Given the description of an element on the screen output the (x, y) to click on. 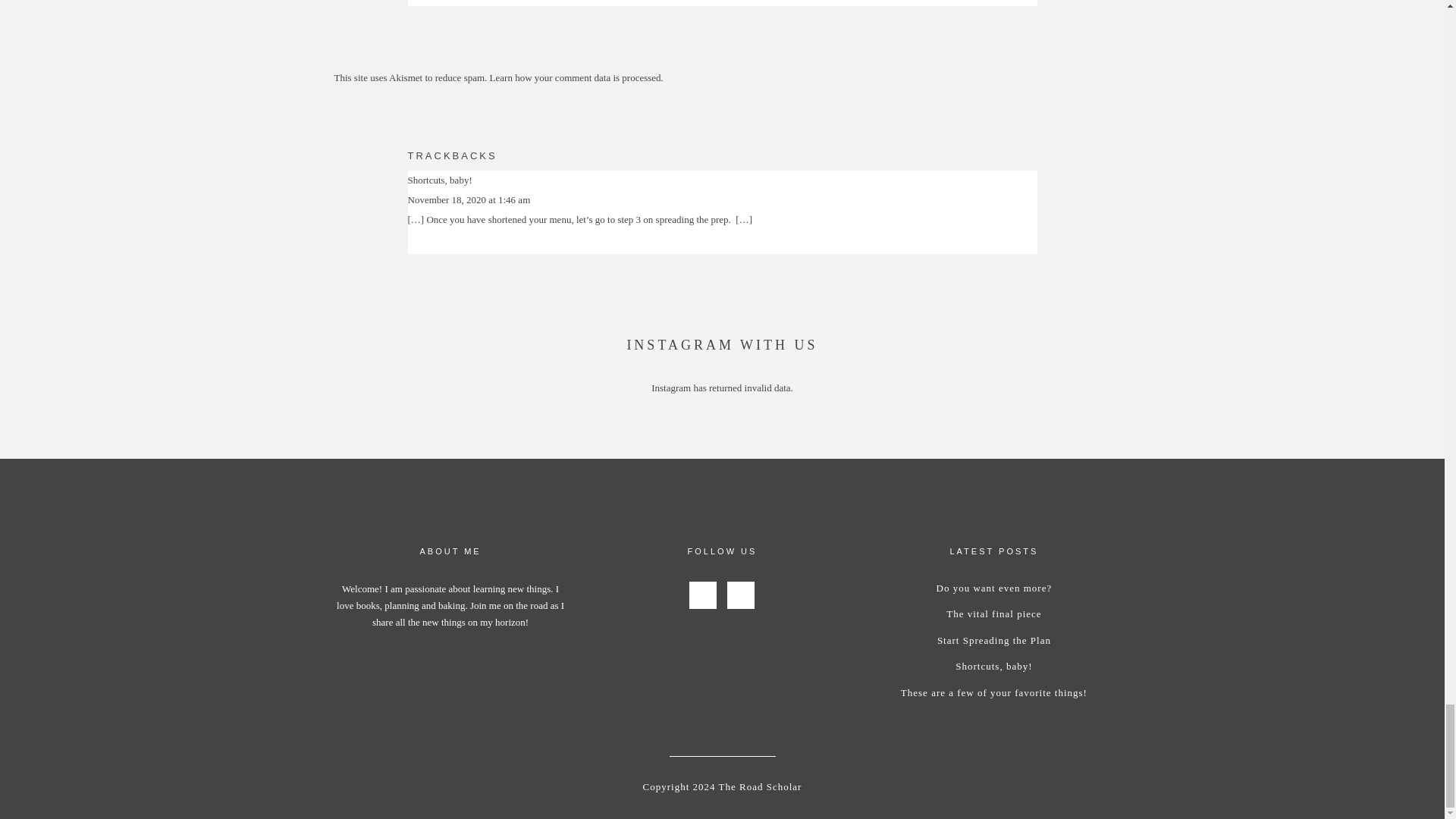
The vital final piece (993, 613)
Shortcuts, baby! (439, 179)
Do you want even more? (994, 587)
Learn how your comment data is processed (575, 77)
These are a few of your favorite things! (994, 692)
Start Spreading the Plan (994, 640)
November 18, 2020 at 1:46 am (469, 199)
Shortcuts, baby! (993, 665)
